Given the description of an element on the screen output the (x, y) to click on. 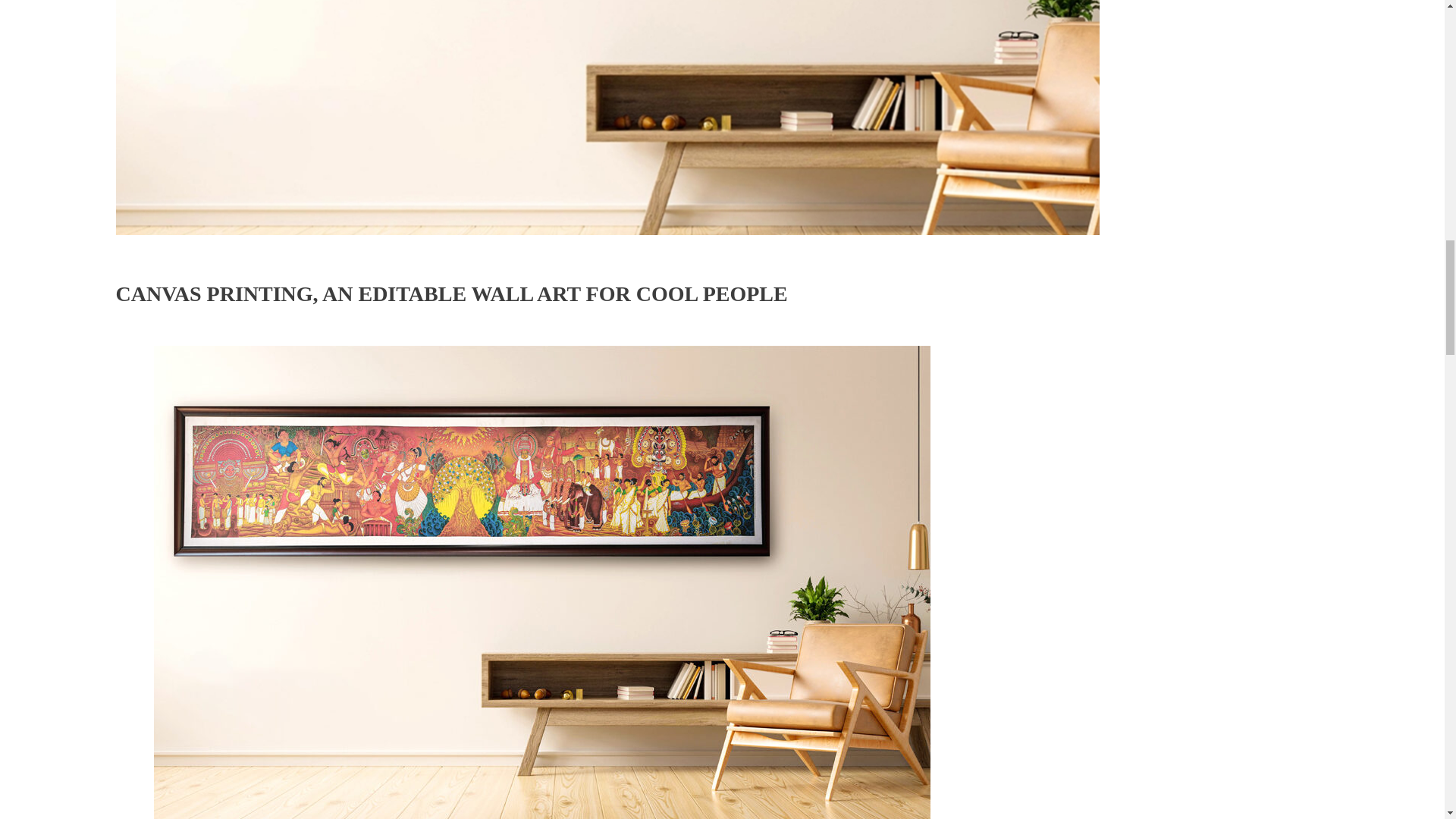
CANVAS PRINTING, AN EDITABLE WALL ART FOR COOL PEOPLE (451, 293)
